Given the description of an element on the screen output the (x, y) to click on. 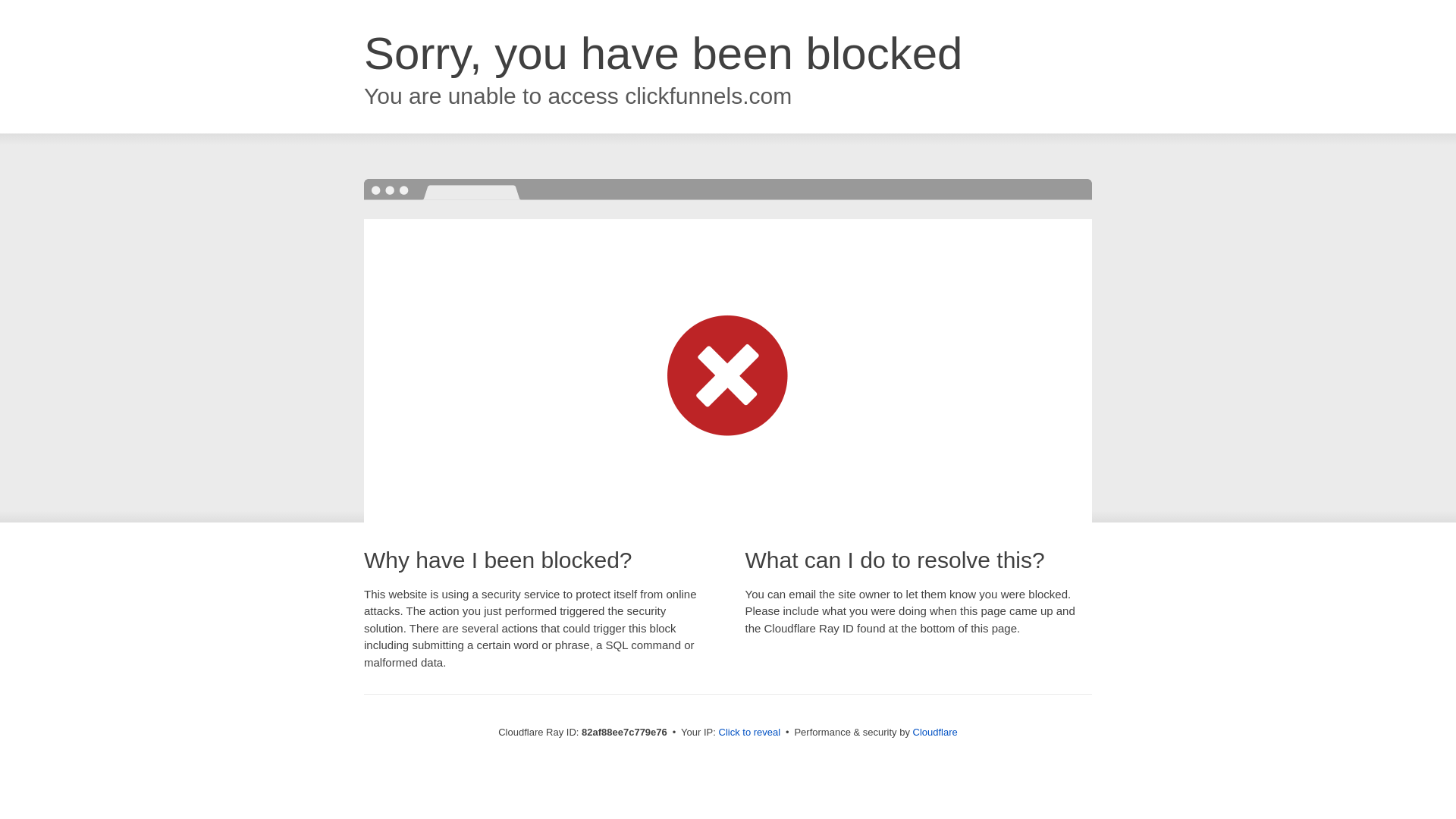
Cloudflare Element type: text (935, 731)
Click to reveal Element type: text (749, 732)
